Given the description of an element on the screen output the (x, y) to click on. 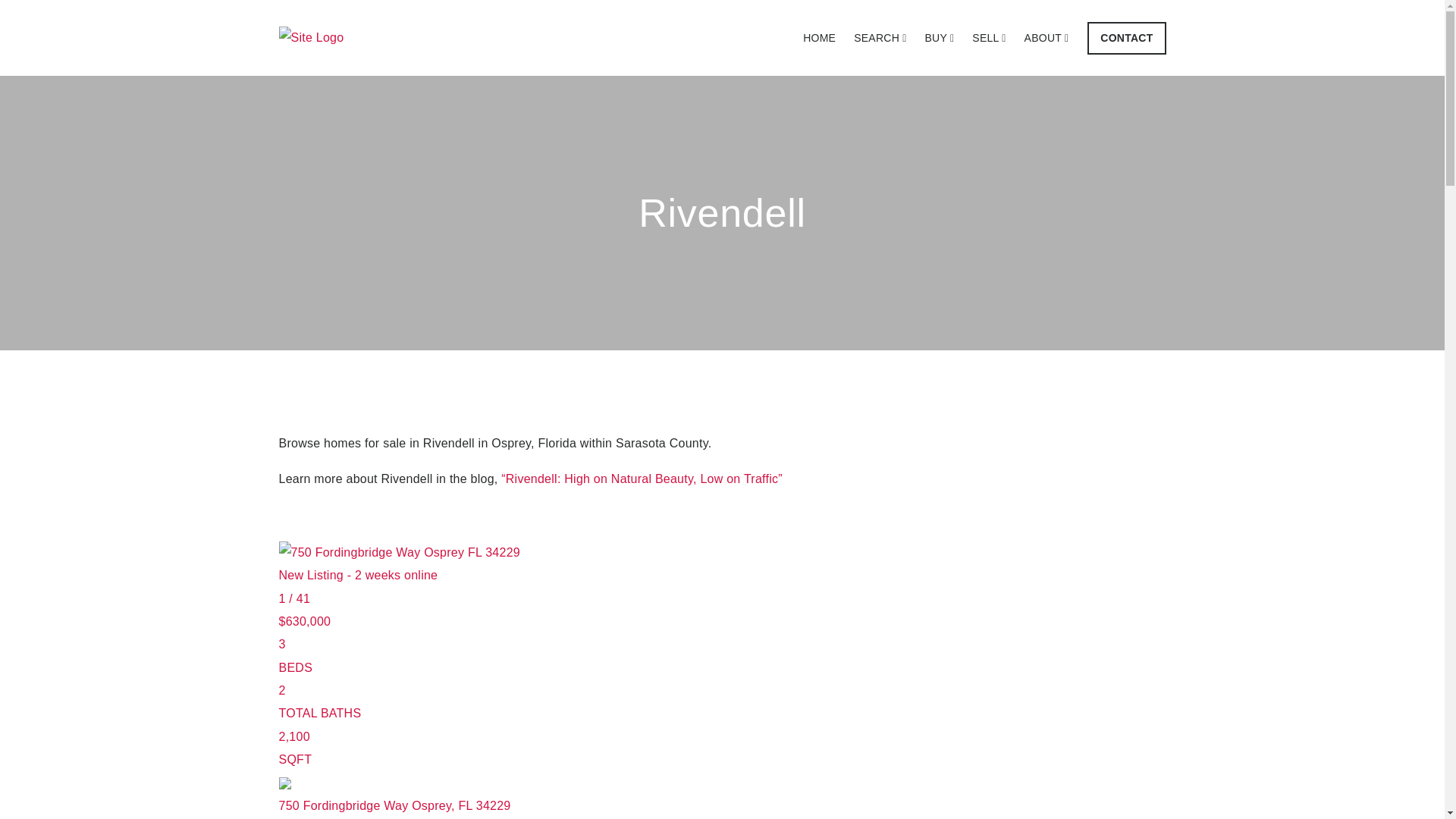
HOME (818, 38)
BUY (939, 38)
SEARCH (879, 38)
CONTACT (1126, 38)
ABOUT (1046, 38)
SELL (988, 38)
